Given the description of an element on the screen output the (x, y) to click on. 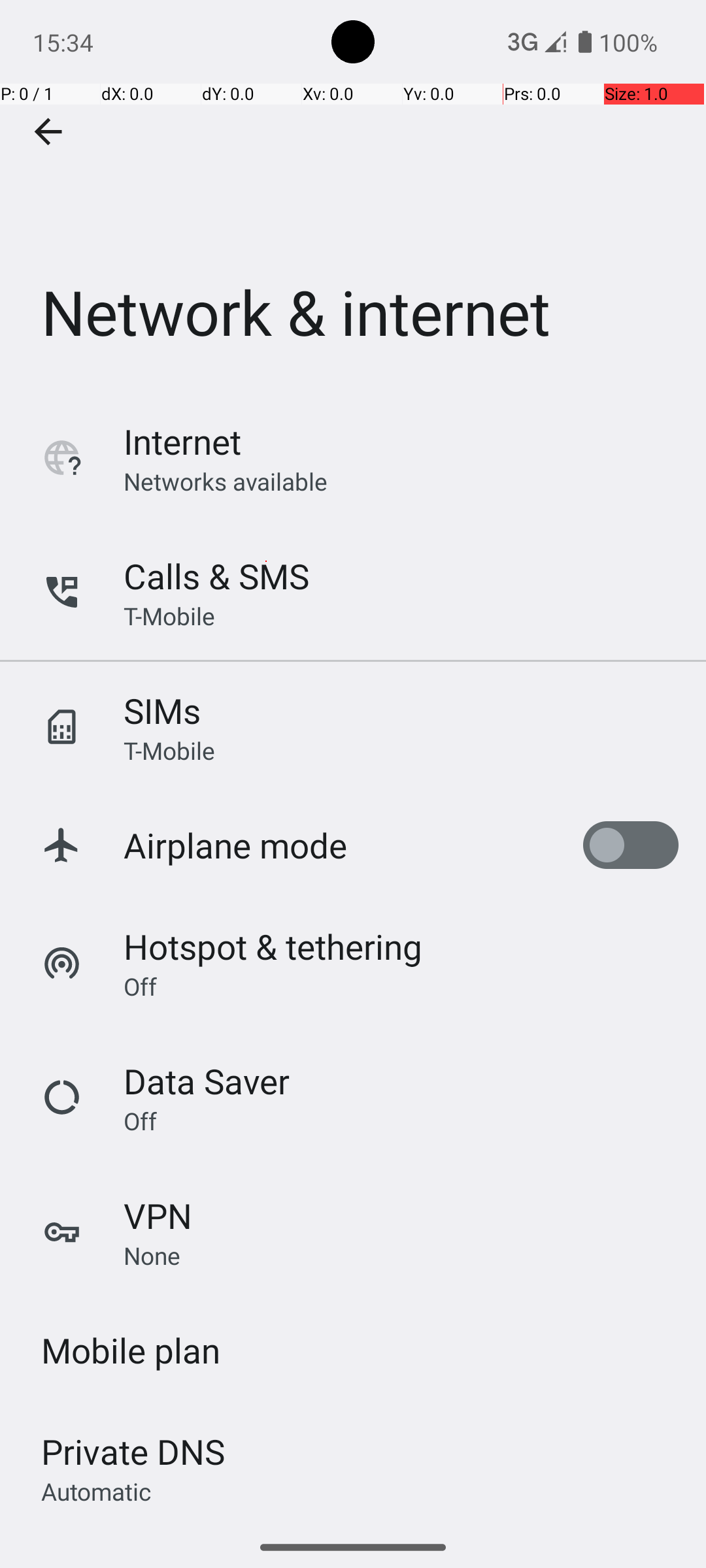
Internet Element type: android.widget.TextView (182, 441)
Networks available Element type: android.widget.TextView (225, 480)
Calls & SMS Element type: android.widget.TextView (216, 575)
T-Mobile Element type: android.widget.TextView (169, 615)
SIMs Element type: android.widget.TextView (161, 710)
Airplane mode Element type: android.widget.TextView (235, 844)
Hotspot & tethering Element type: android.widget.TextView (272, 946)
Data Saver Element type: android.widget.TextView (206, 1080)
VPN Element type: android.widget.TextView (157, 1215)
Mobile plan Element type: android.widget.TextView (130, 1349)
Private DNS Element type: android.widget.TextView (132, 1451)
Automatic Element type: android.widget.TextView (96, 1490)
